Given the description of an element on the screen output the (x, y) to click on. 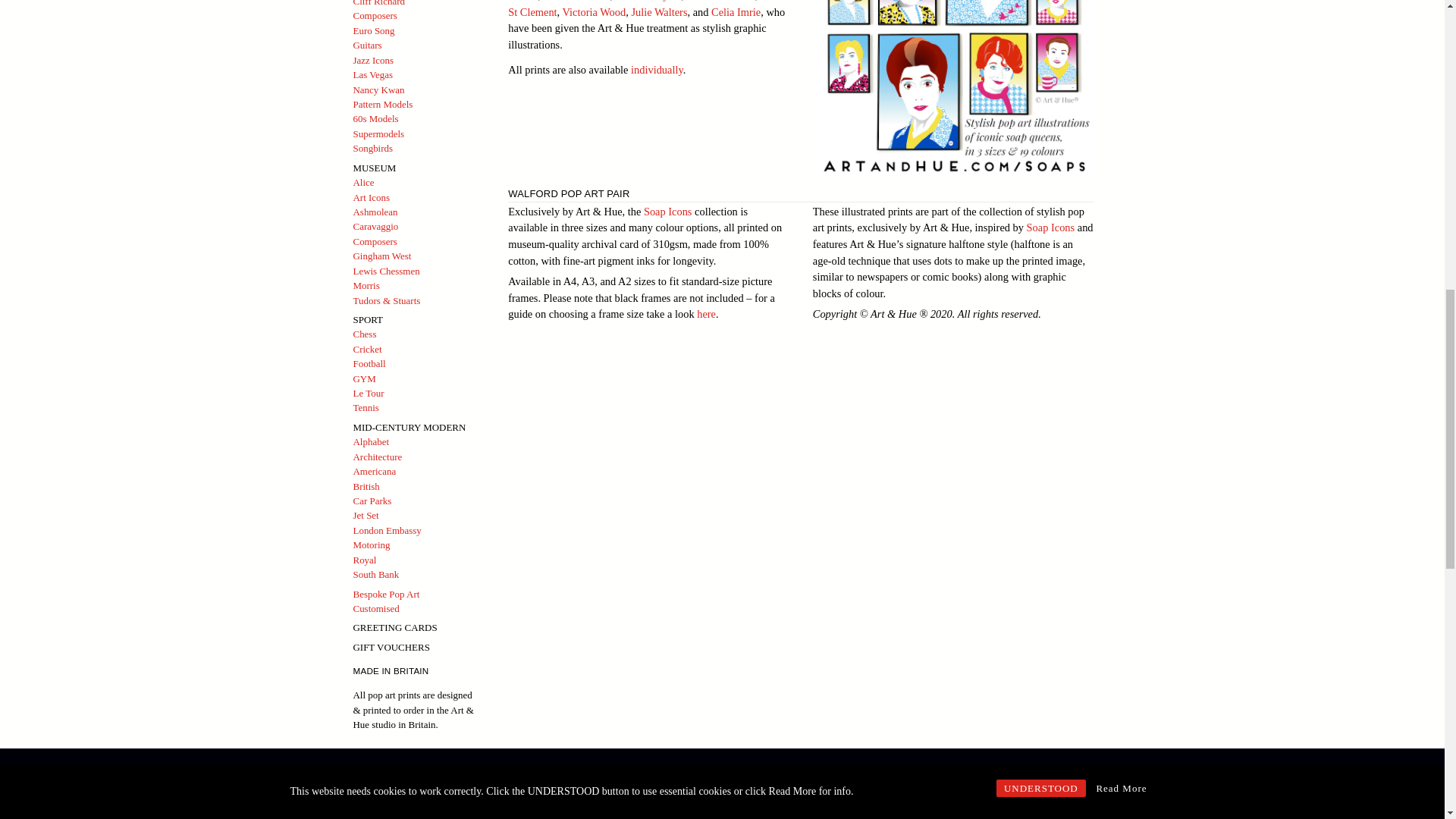
Soap Icons (656, 69)
